Given the description of an element on the screen output the (x, y) to click on. 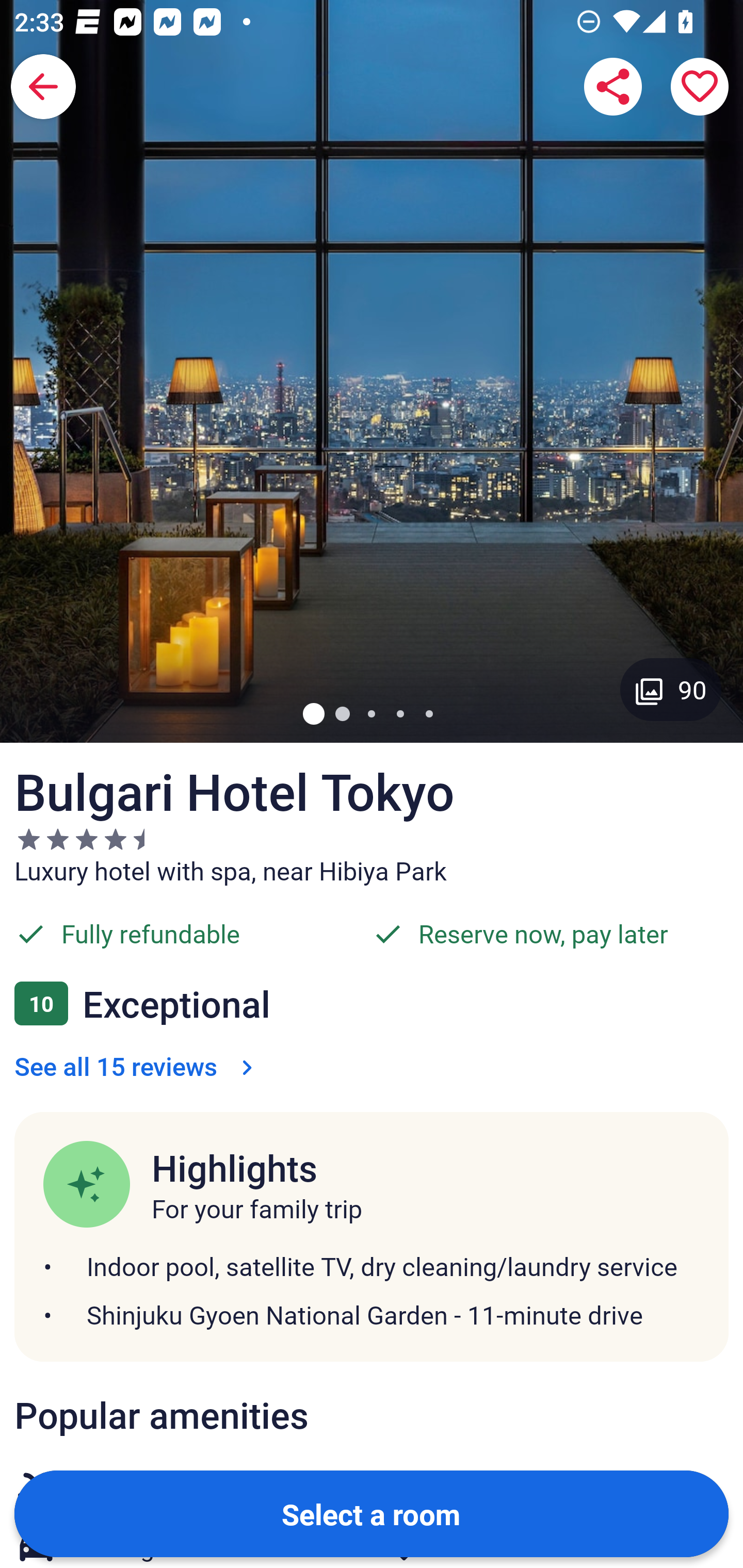
Back (43, 86)
Save property to a trip (699, 86)
Share Bulgari Hotel Tokyo (612, 87)
Gallery button with 90 images (670, 689)
See all 15 reviews See all 15 reviews Link (137, 1066)
Select a room Button Select a room (371, 1513)
